Given the description of an element on the screen output the (x, y) to click on. 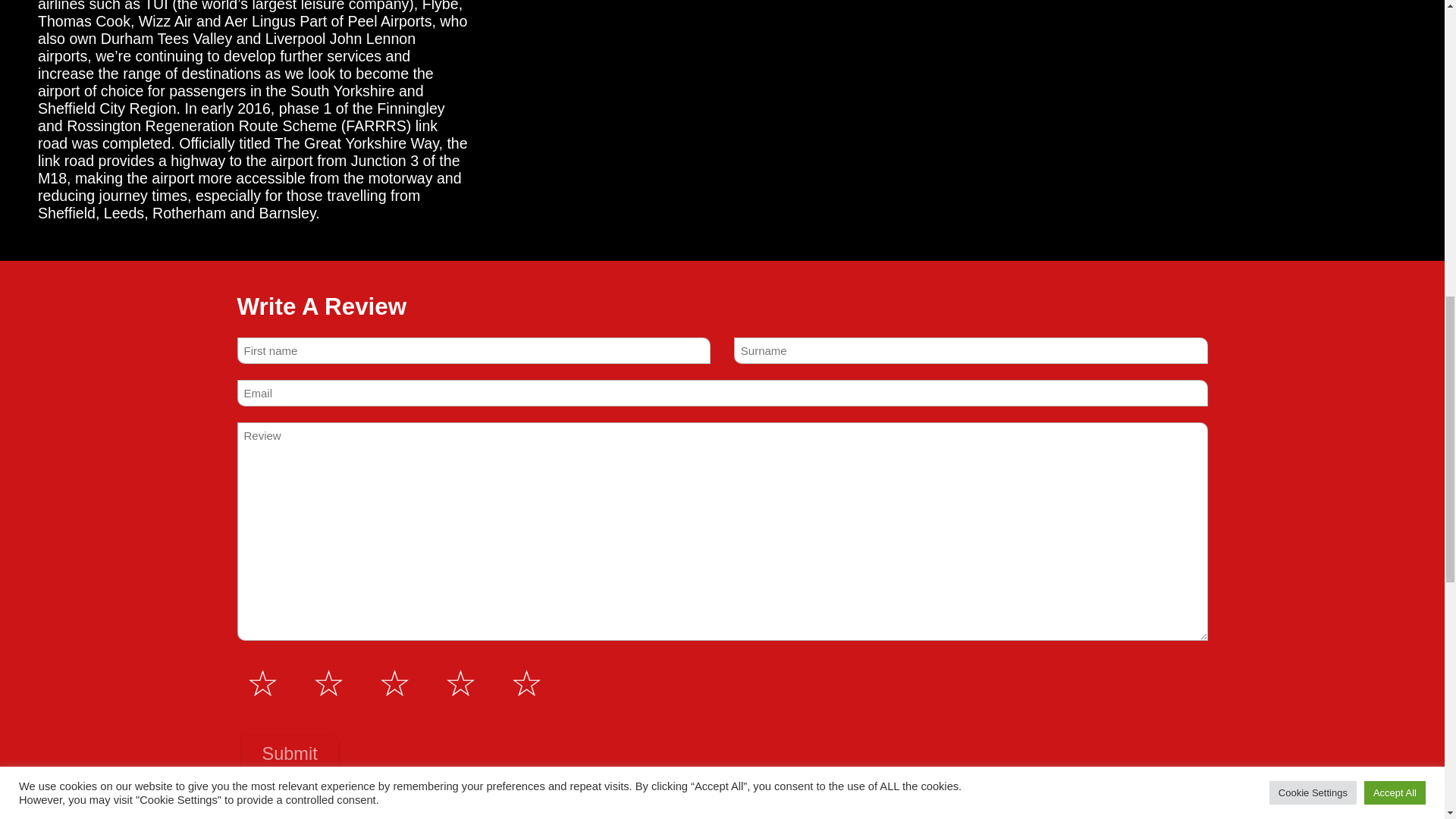
5 (528, 683)
5 (245, 664)
3 (396, 683)
4 (245, 664)
3 (245, 664)
1 (245, 664)
4 (463, 683)
Submit (290, 754)
2 (330, 683)
2 (245, 664)
1 (264, 683)
